Given the description of an element on the screen output the (x, y) to click on. 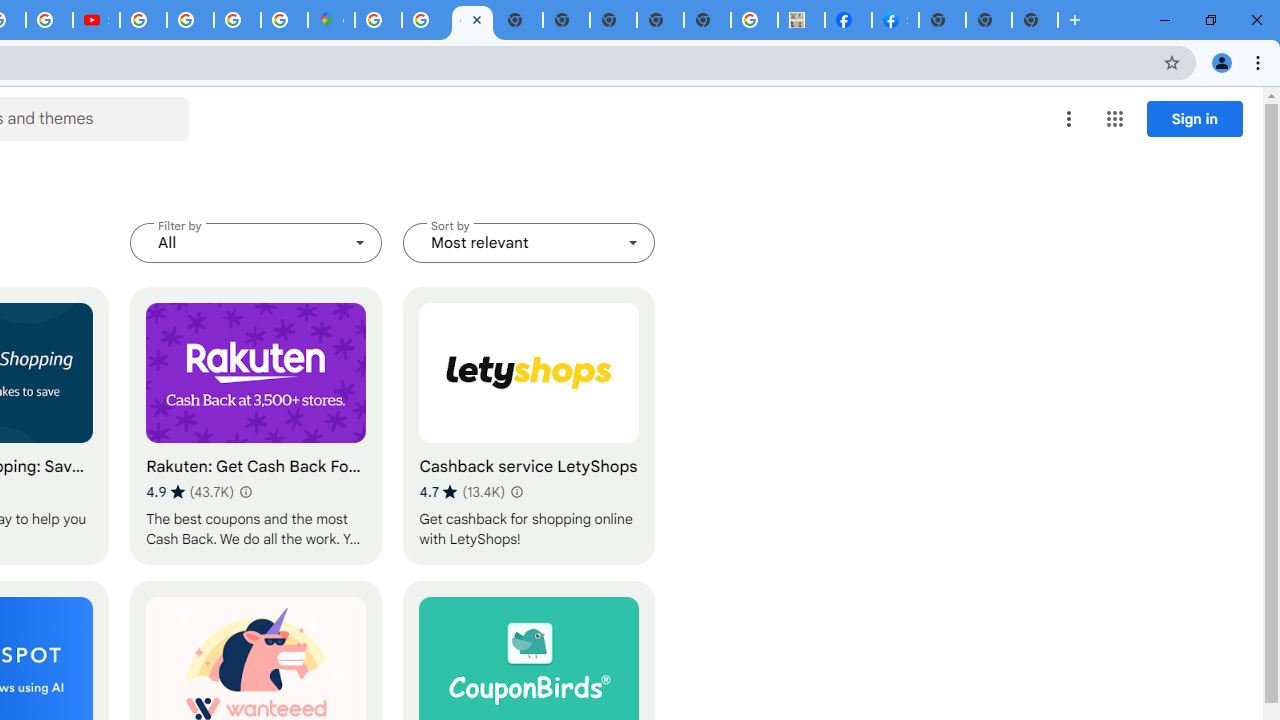
MILEY CYRUS. (801, 20)
Chrome Web Store - Shopping (472, 20)
Sign Up for Facebook (895, 20)
Google Maps (331, 20)
Cashback service LetyShops (529, 426)
More options menu (1069, 118)
New Tab (942, 20)
